Given the description of an element on the screen output the (x, y) to click on. 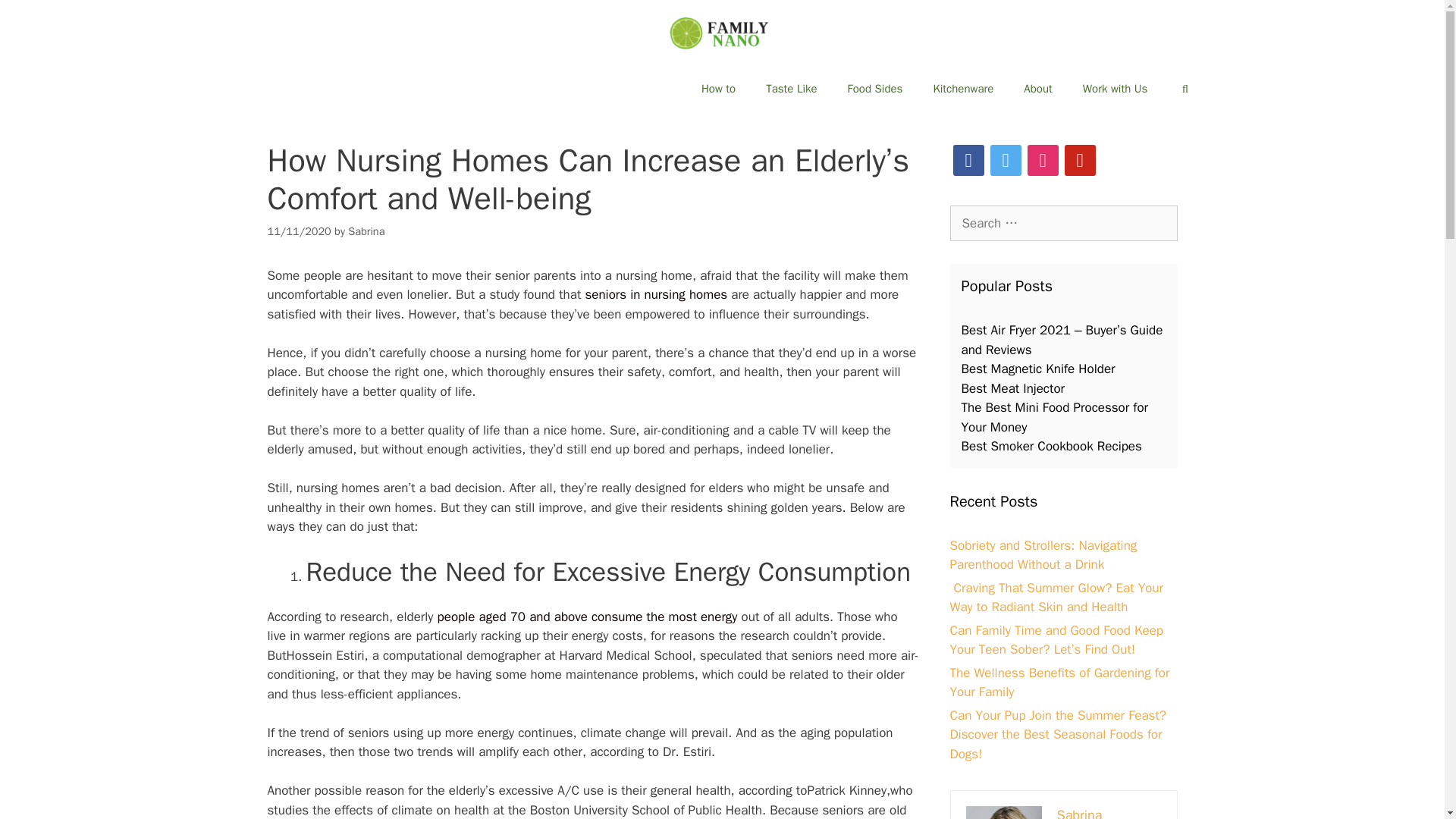
Kitchenware (963, 88)
Sabrina (365, 231)
FamilyNano (721, 32)
Food Sides (875, 88)
Default Label (1080, 159)
Work with Us (1114, 88)
FamilyNano (721, 32)
instagram (1042, 159)
seniors in nursing homes (655, 294)
Search for: (1062, 223)
About (1038, 88)
twitter (1006, 159)
facebook (968, 159)
View all posts by Sabrina (365, 231)
pinterest (1080, 159)
